Given the description of an element on the screen output the (x, y) to click on. 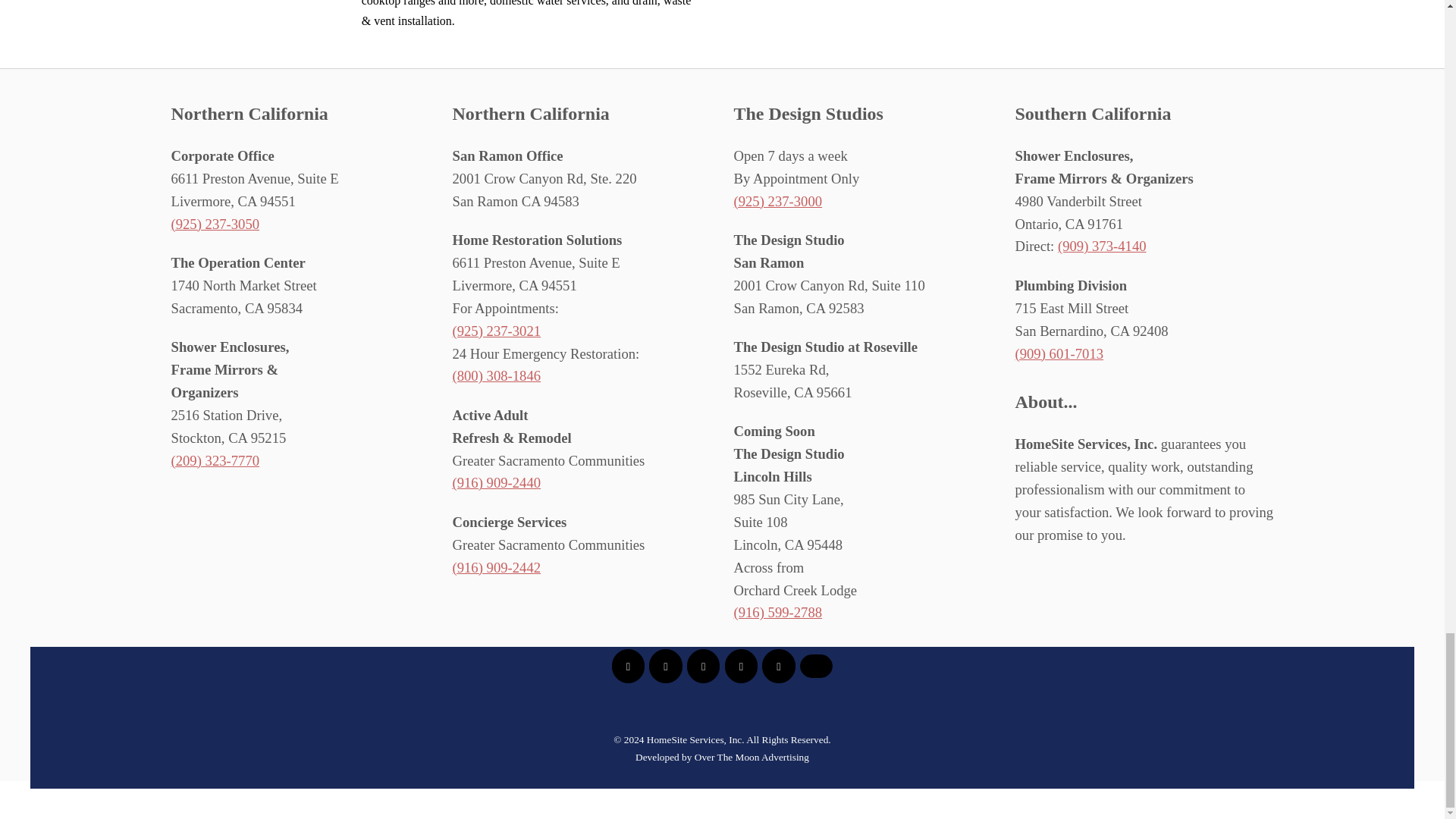
Homesite Services Inc. on Linkedin (665, 666)
Homesite Services Inc. on Instagram (777, 666)
Homesite Services Inc. on X Twitter (703, 666)
Homesite Services Inc. on Facebook (628, 666)
Homesite Services Inc. on Youtube (741, 666)
Threads (815, 666)
